Given the description of an element on the screen output the (x, y) to click on. 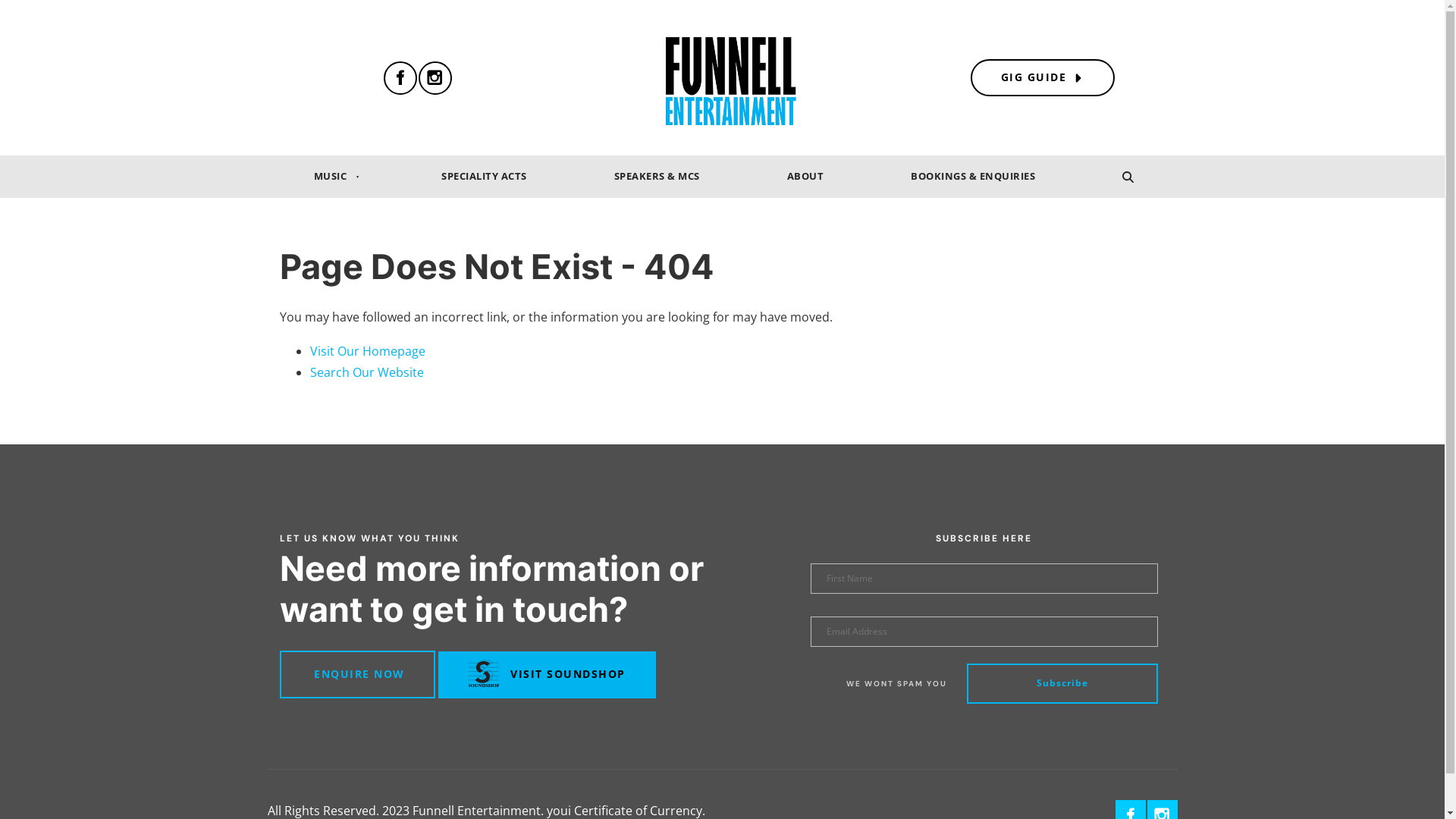
GIG GUIDE Element type: text (1042, 77)
ENQUIRE NOW Element type: text (356, 674)
Subscribe Element type: text (1061, 683)
SPECIALITY ACTS Element type: text (483, 176)
Search Our Website Element type: text (366, 372)
MUSIC Element type: text (331, 176)
BOOKINGS & ENQUIRIES Element type: text (973, 176)
Facebook Element type: hover (400, 77)
VISIT SOUNDSHOP Element type: text (546, 674)
Visit Our Homepage Element type: text (366, 350)
SPEAKERS & MCS Element type: text (656, 176)
ABOUT Element type: text (805, 176)
Instagram Element type: hover (434, 77)
